Given the description of an element on the screen output the (x, y) to click on. 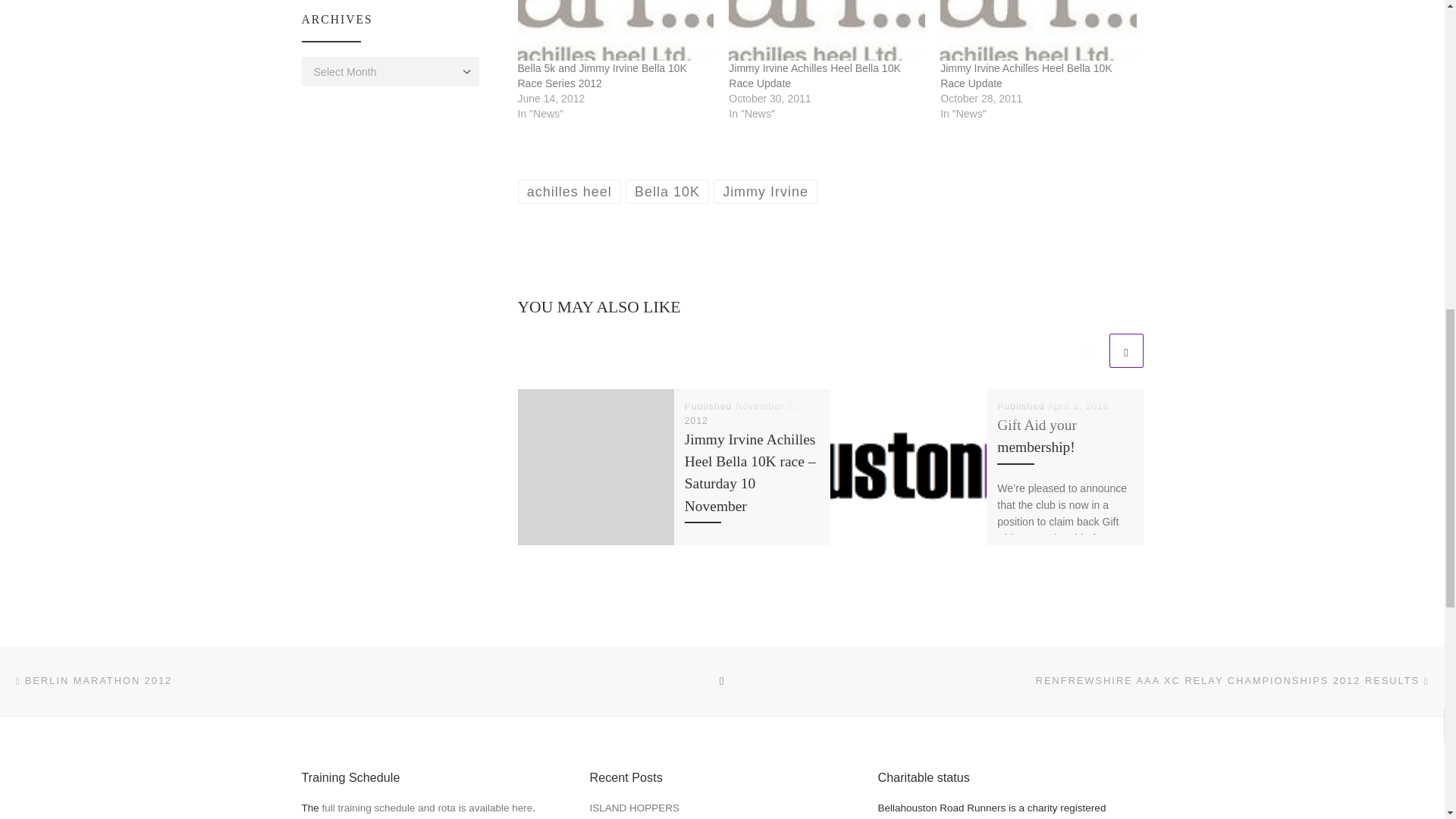
Bella 5k and Jimmy Irvine Bella 10K Race Series 2012 (600, 75)
Jimmy Irvine Achilles Heel Bella 10K Race Update (826, 30)
Jimmy Irvine Achilles Heel Bella 10K Race Update (814, 75)
Bella 5k and Jimmy Irvine Bella 10K Race Series 2012 (614, 30)
